Given the description of an element on the screen output the (x, y) to click on. 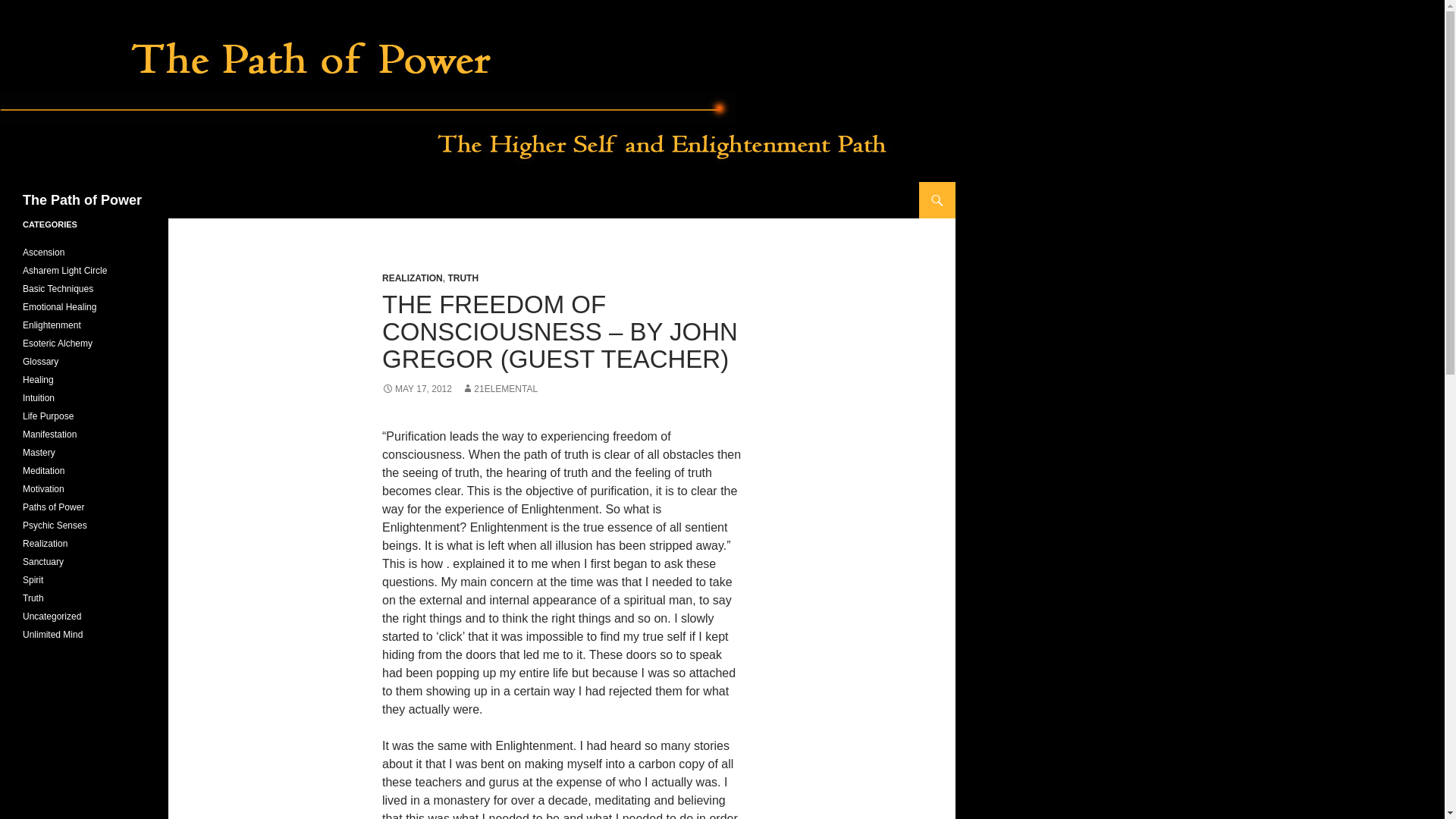
Glossary (40, 361)
Healing (38, 379)
Uncategorized (52, 615)
The Art of Healing (38, 379)
MAY 17, 2012 (416, 388)
REALIZATION (411, 277)
Developing connection to intuition and the higher self. (39, 398)
TRUTH (462, 277)
Enlightenment (52, 325)
Mastery (39, 452)
Intuition (39, 398)
Meditation (43, 470)
Mastery of the mind. (43, 470)
Psychic Senses (55, 525)
